Given the description of an element on the screen output the (x, y) to click on. 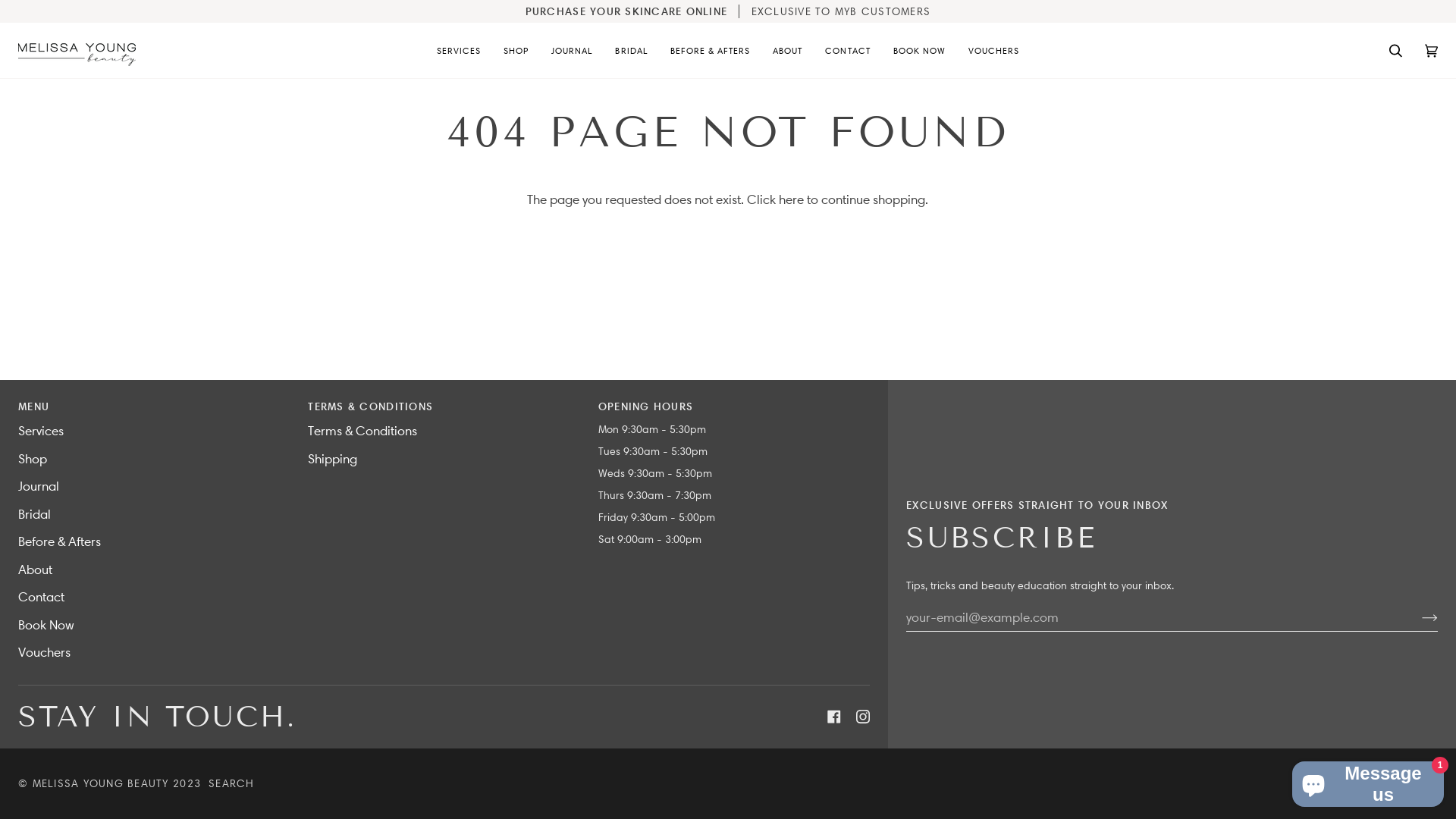
CONTACT Element type: text (847, 50)
Search Element type: text (1395, 50)
About Element type: text (35, 568)
ABOUT Element type: text (787, 50)
VOUCHERS Element type: text (993, 50)
Vouchers Element type: text (44, 651)
Instagram Element type: text (862, 716)
SEARCH Element type: text (231, 783)
Book Now Element type: text (46, 624)
Services Element type: text (40, 430)
Cart
(0) Element type: text (1431, 50)
BOOK NOW Element type: text (919, 50)
BRIDAL Element type: text (630, 50)
Before & Afters Element type: text (59, 541)
BEFORE & AFTERS Element type: text (710, 50)
Bridal Element type: text (34, 513)
JOURNAL Element type: text (571, 50)
Shop Element type: text (32, 457)
Shopify online store chat Element type: hover (1367, 780)
SHOP Element type: text (515, 50)
Shipping Element type: text (332, 457)
SERVICES Element type: text (458, 50)
Contact Element type: text (41, 596)
MELISSA YOUNG BEAUTY Element type: text (100, 783)
Facebook Element type: text (833, 716)
Journal Element type: text (38, 485)
Terms & Conditions Element type: text (362, 430)
here Element type: text (790, 199)
